Given the description of an element on the screen output the (x, y) to click on. 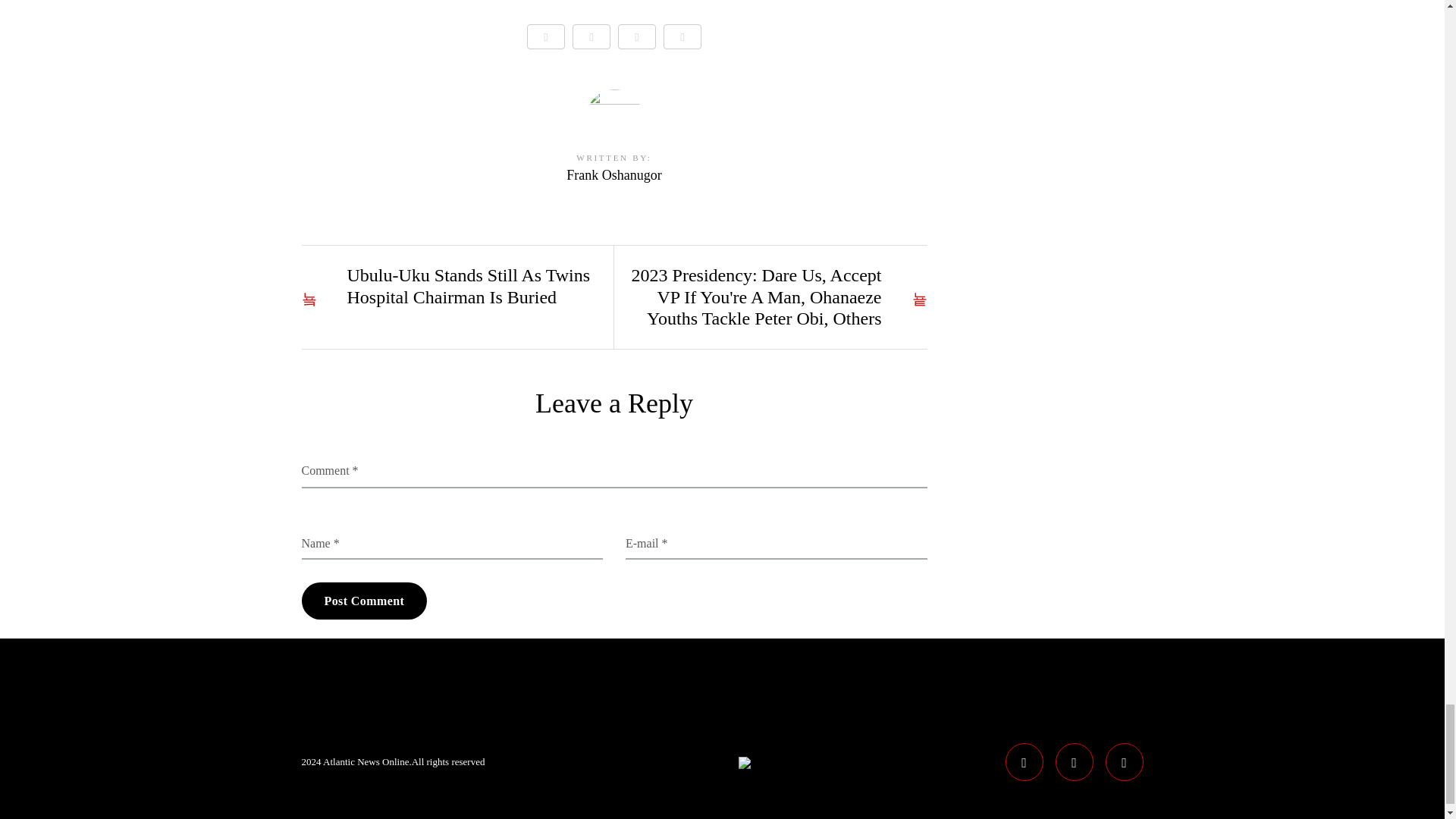
Ubulu-Uku Stands Still As Twins Hospital Chairman Is Buried (452, 286)
Atlantic News Online. (367, 761)
Post Comment (364, 600)
Ubulu-Uku Stands Still As Twins Hospital Chairman Is Buried (452, 286)
